Given the description of an element on the screen output the (x, y) to click on. 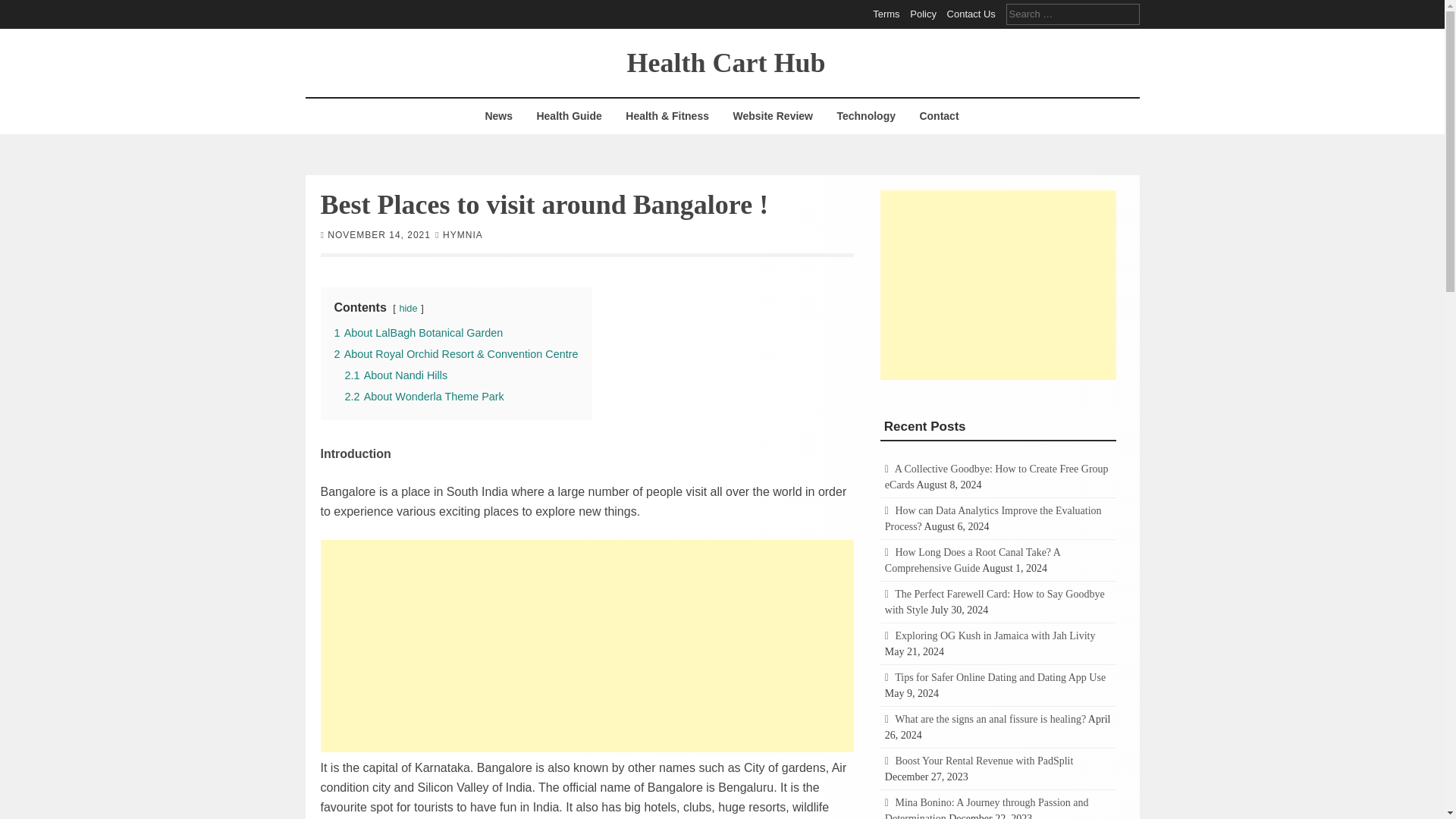
How Long Does a Root Canal Take? A Comprehensive Guide (972, 560)
Exploring OG Kush in Jamaica with Jah Livity (994, 635)
hide (407, 307)
Website Review (772, 116)
Technology (866, 116)
Contact (938, 116)
News (498, 116)
Advertisement (586, 645)
Policy (923, 13)
Search (23, 9)
